Given the description of an element on the screen output the (x, y) to click on. 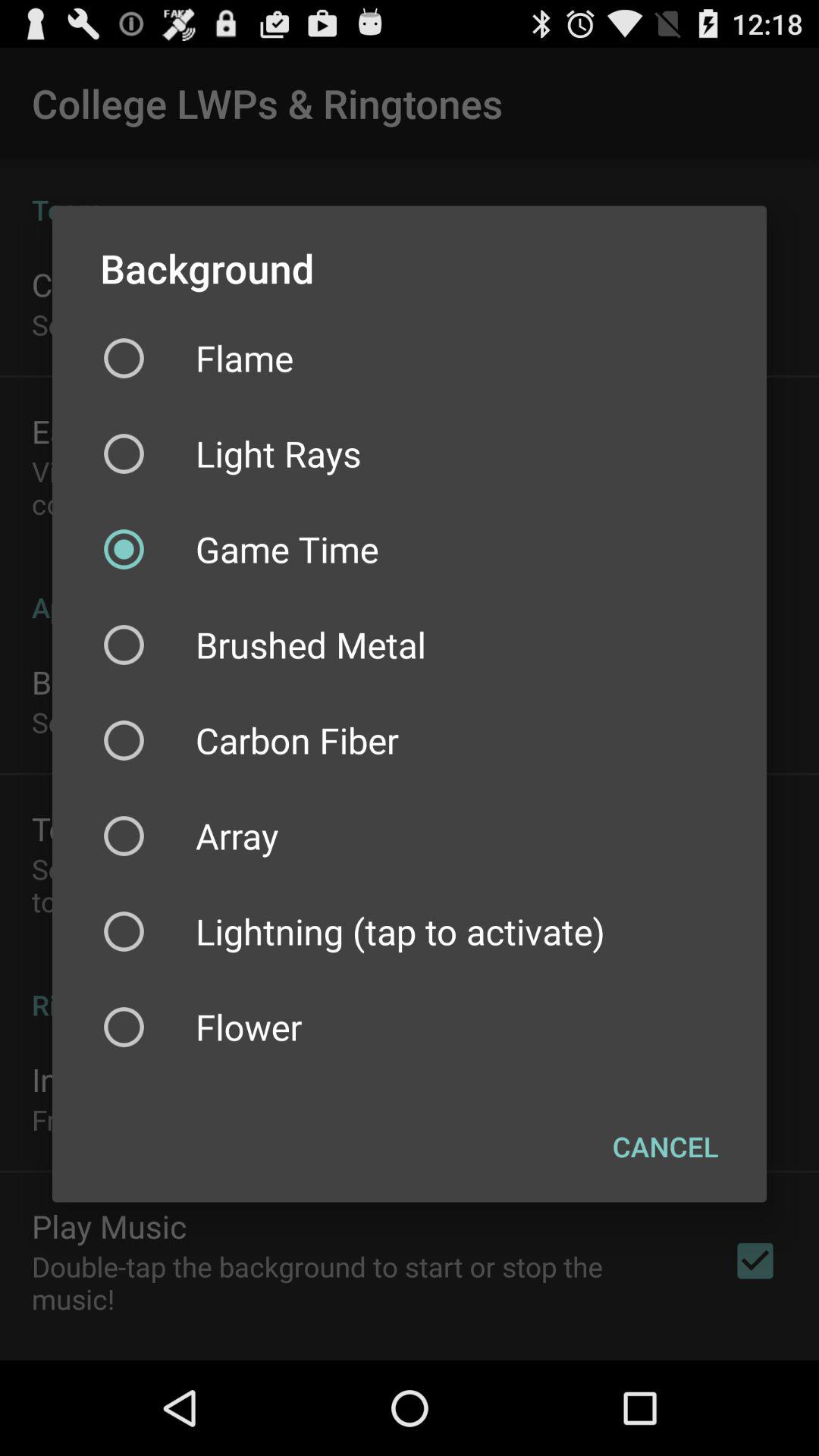
click the button at the bottom right corner (665, 1146)
